Given the description of an element on the screen output the (x, y) to click on. 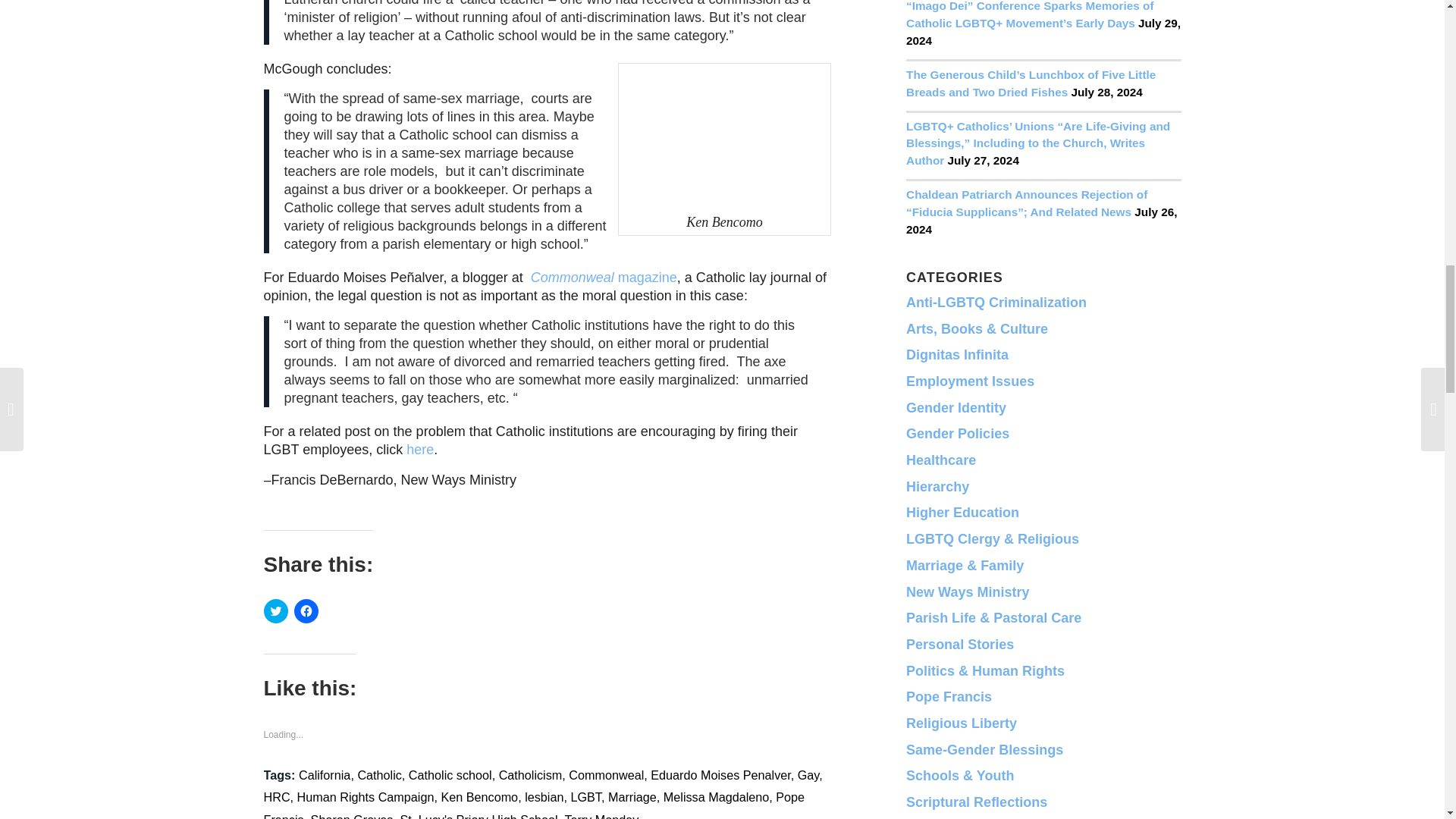
Click to share on Facebook (306, 610)
Click to share on Twitter (275, 610)
